Given the description of an element on the screen output the (x, y) to click on. 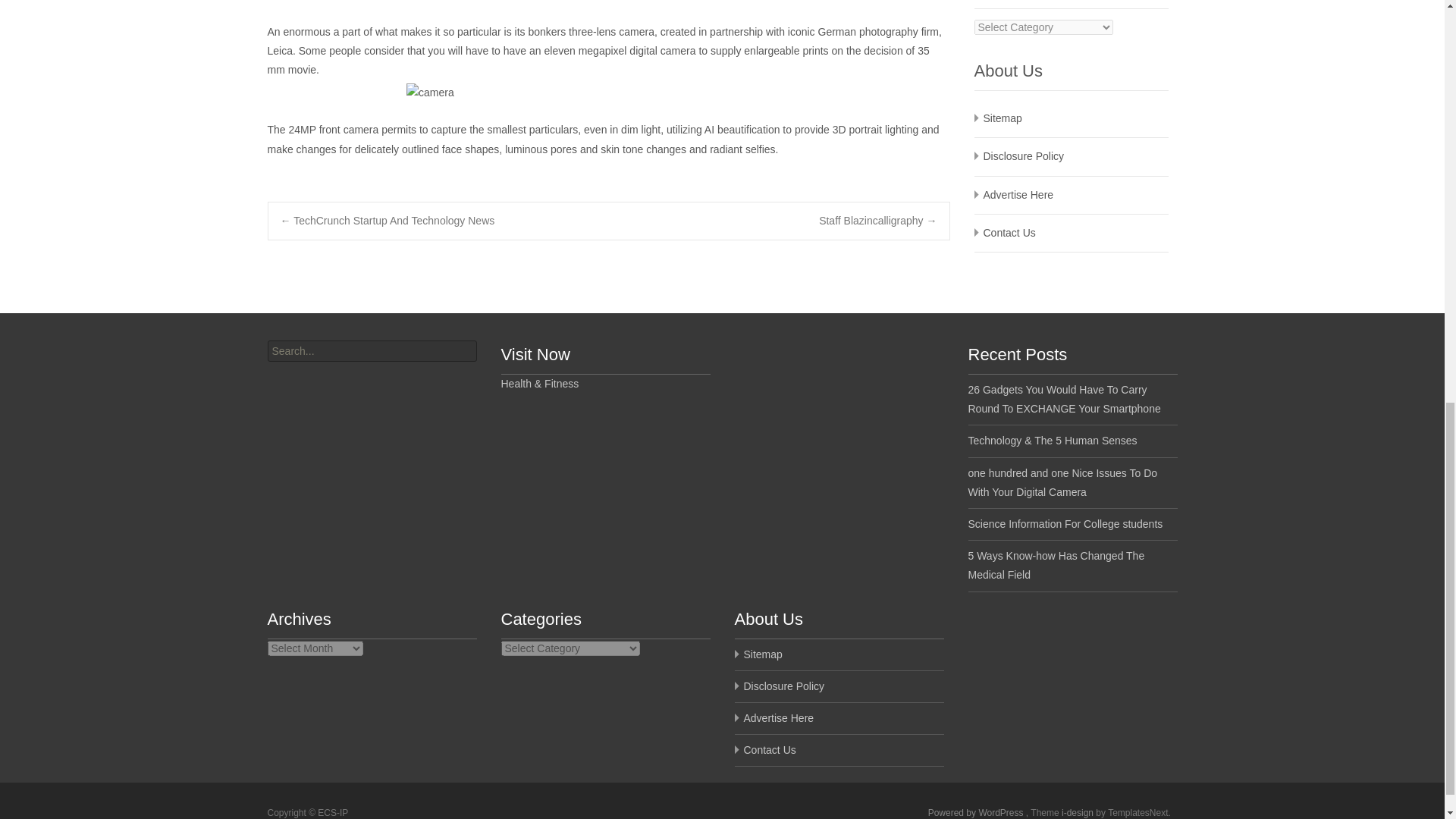
Multipurpose WordPress Theme (1078, 812)
Semantic Personal Publishing Platform (977, 812)
Search for: (371, 350)
